Given the description of an element on the screen output the (x, y) to click on. 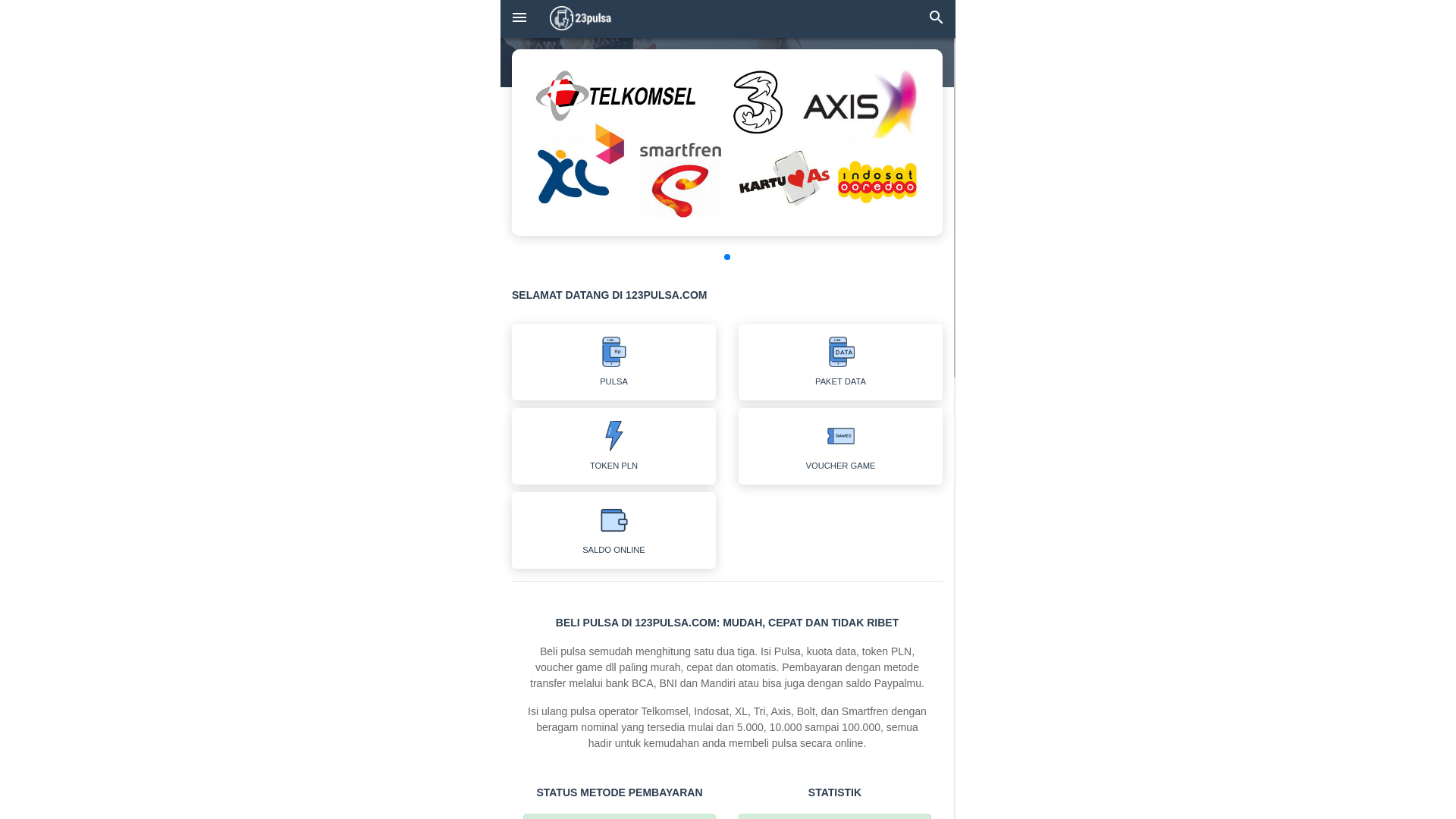
TOKEN PLN Element type: text (613, 445)
menu Element type: text (519, 18)
search Element type: text (936, 18)
PULSA Element type: text (613, 361)
VOUCHER GAME Element type: text (840, 445)
SALDO ONLINE Element type: text (613, 530)
PAKET DATA Element type: text (840, 361)
